Given the description of an element on the screen output the (x, y) to click on. 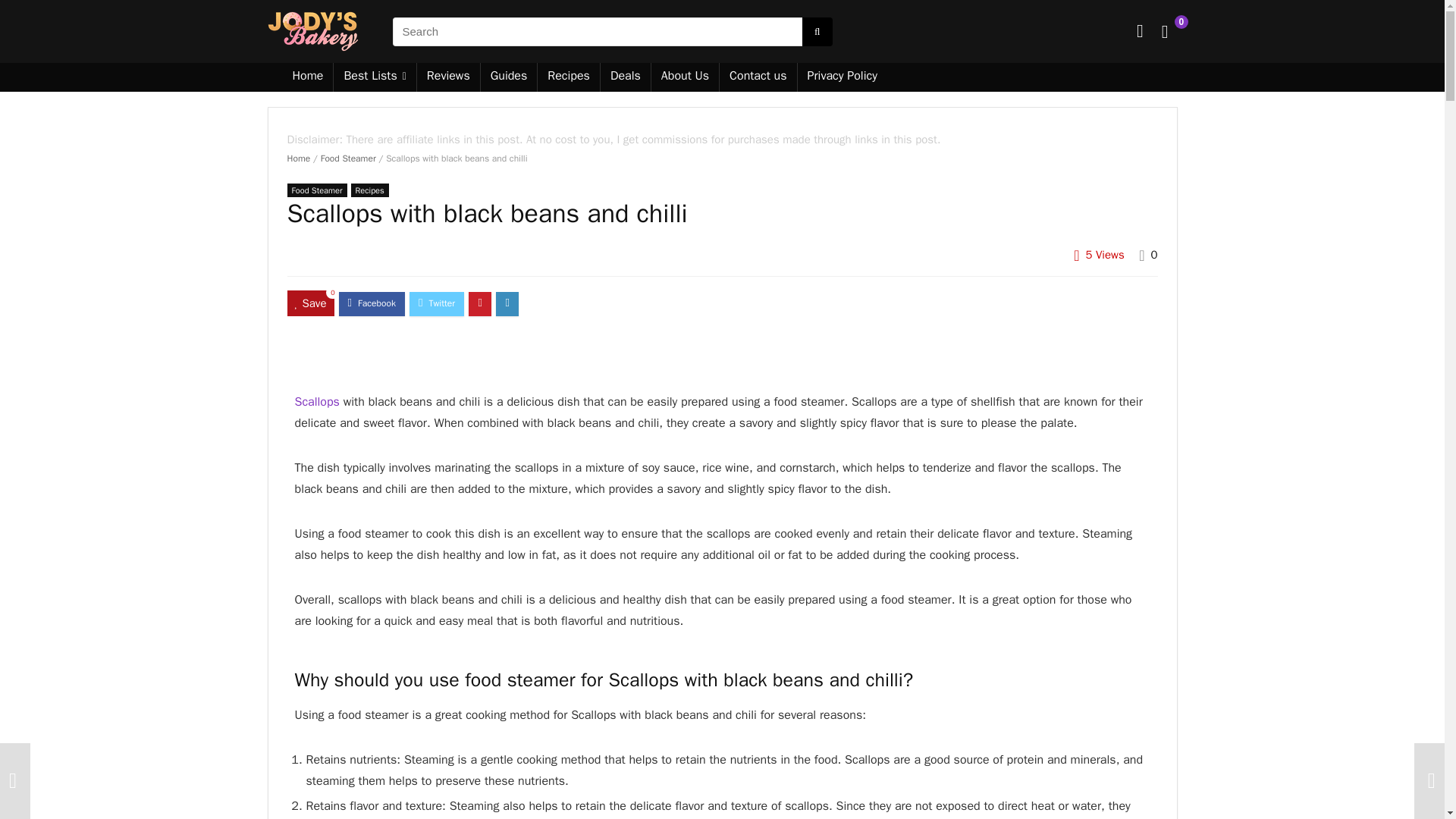
Best Lists (373, 77)
Recipes (568, 77)
Recipes (369, 190)
Scallops (316, 401)
Deals (624, 77)
Food Steamer (316, 190)
View all posts in Food Steamer (316, 190)
Home (307, 77)
Food Steamer (347, 158)
About Us (684, 77)
Reviews (448, 77)
Privacy Policy (841, 77)
Home (298, 158)
Contact us (757, 77)
Guides (508, 77)
